Given the description of an element on the screen output the (x, y) to click on. 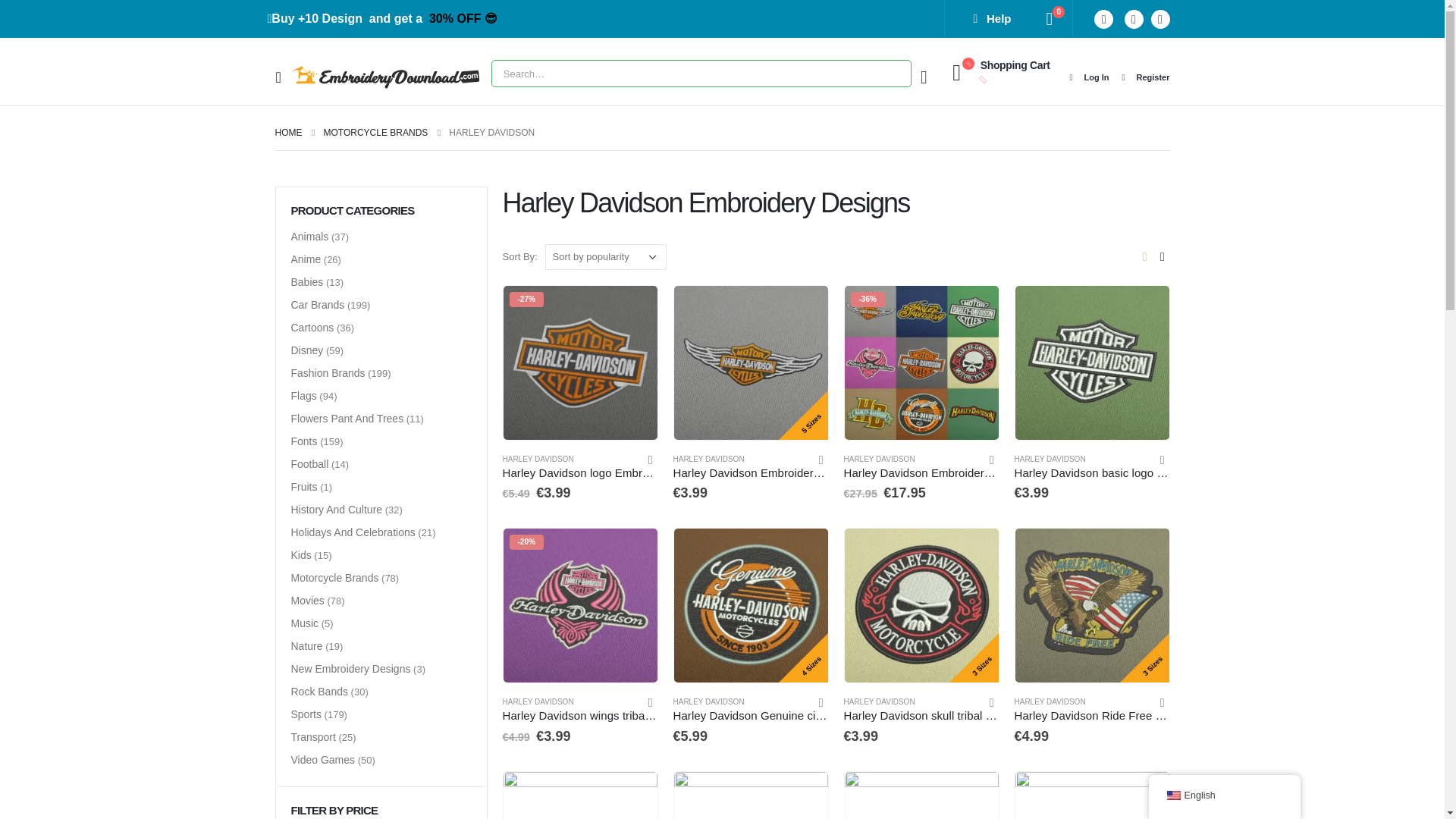
HOME (288, 132)
HARLEY DAVIDSON (537, 459)
Grid View (1144, 256)
Wishlist (1049, 18)
Harley Davidson Embroidery Design Download (750, 473)
Pinterest (1103, 18)
Log In (1087, 76)
List View (1161, 256)
Search (894, 73)
Go to Home Page (288, 132)
Harley Davidson logo Embroidery Design Download (580, 473)
Harley Davidson Embroidery Designs Pack (920, 473)
My Account (923, 76)
HARLEY DAVIDSON (708, 459)
Facebook (1160, 18)
